Given the description of an element on the screen output the (x, y) to click on. 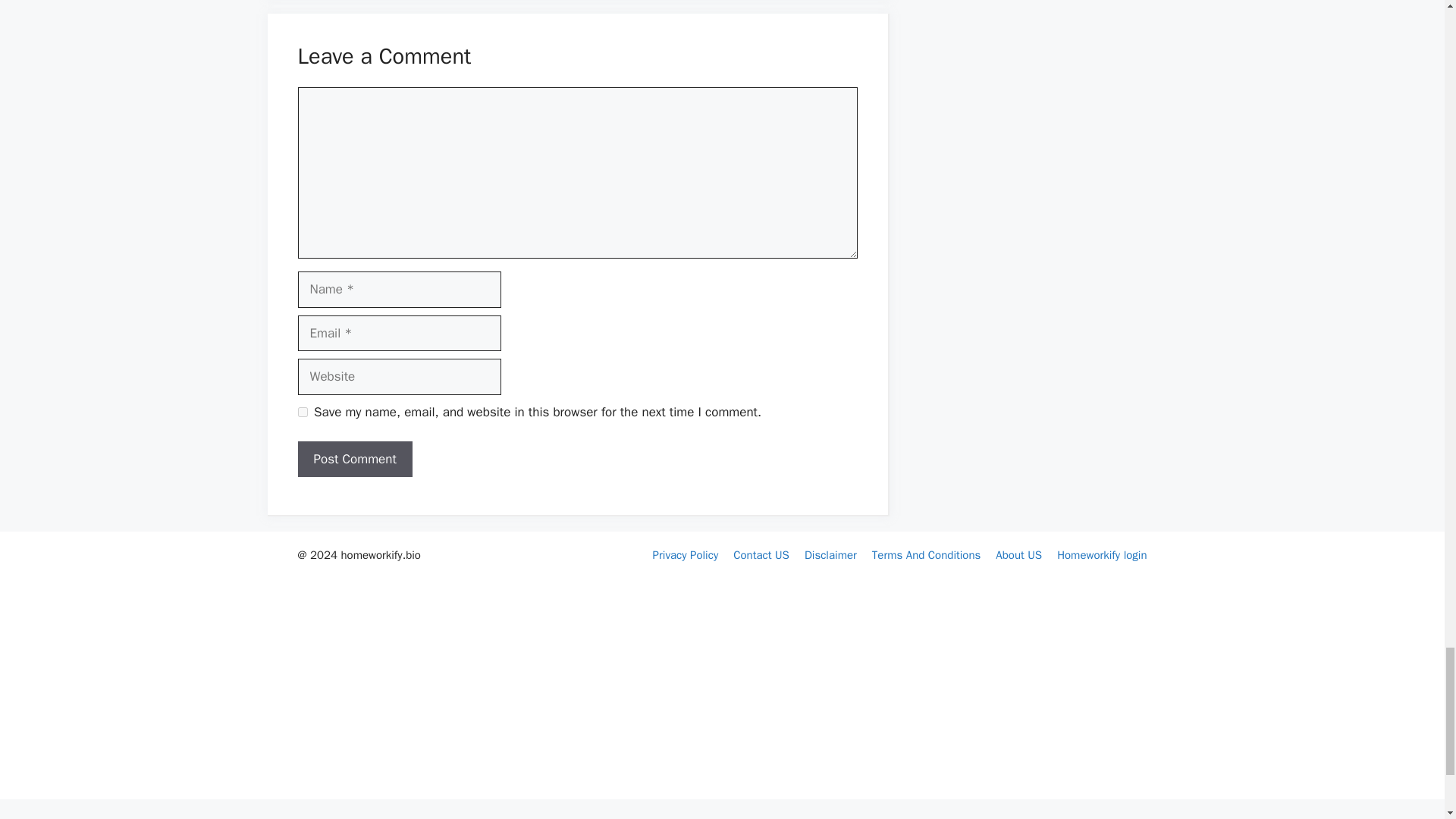
Privacy Policy (685, 554)
yes (302, 411)
Post Comment (354, 459)
Contact US (761, 554)
Post Comment (354, 459)
Disclaimer (831, 554)
